Given the description of an element on the screen output the (x, y) to click on. 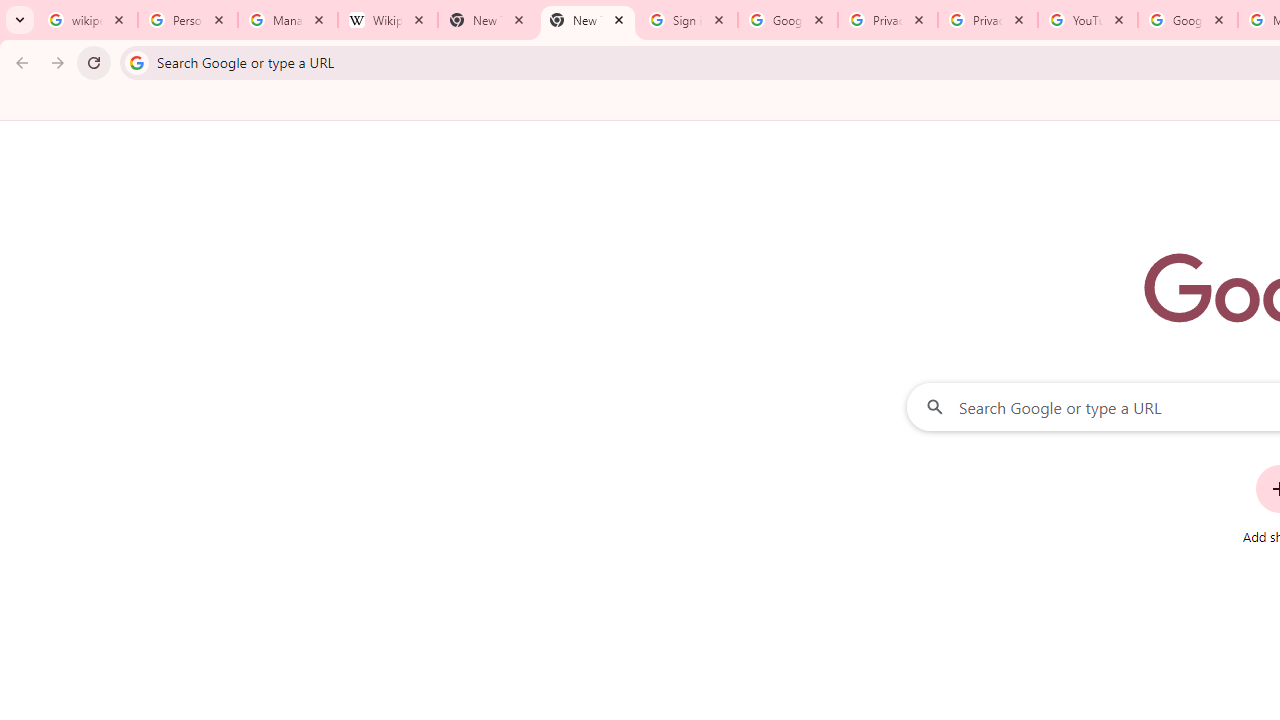
Personalization & Google Search results - Google Search Help (188, 20)
